Given the description of an element on the screen output the (x, y) to click on. 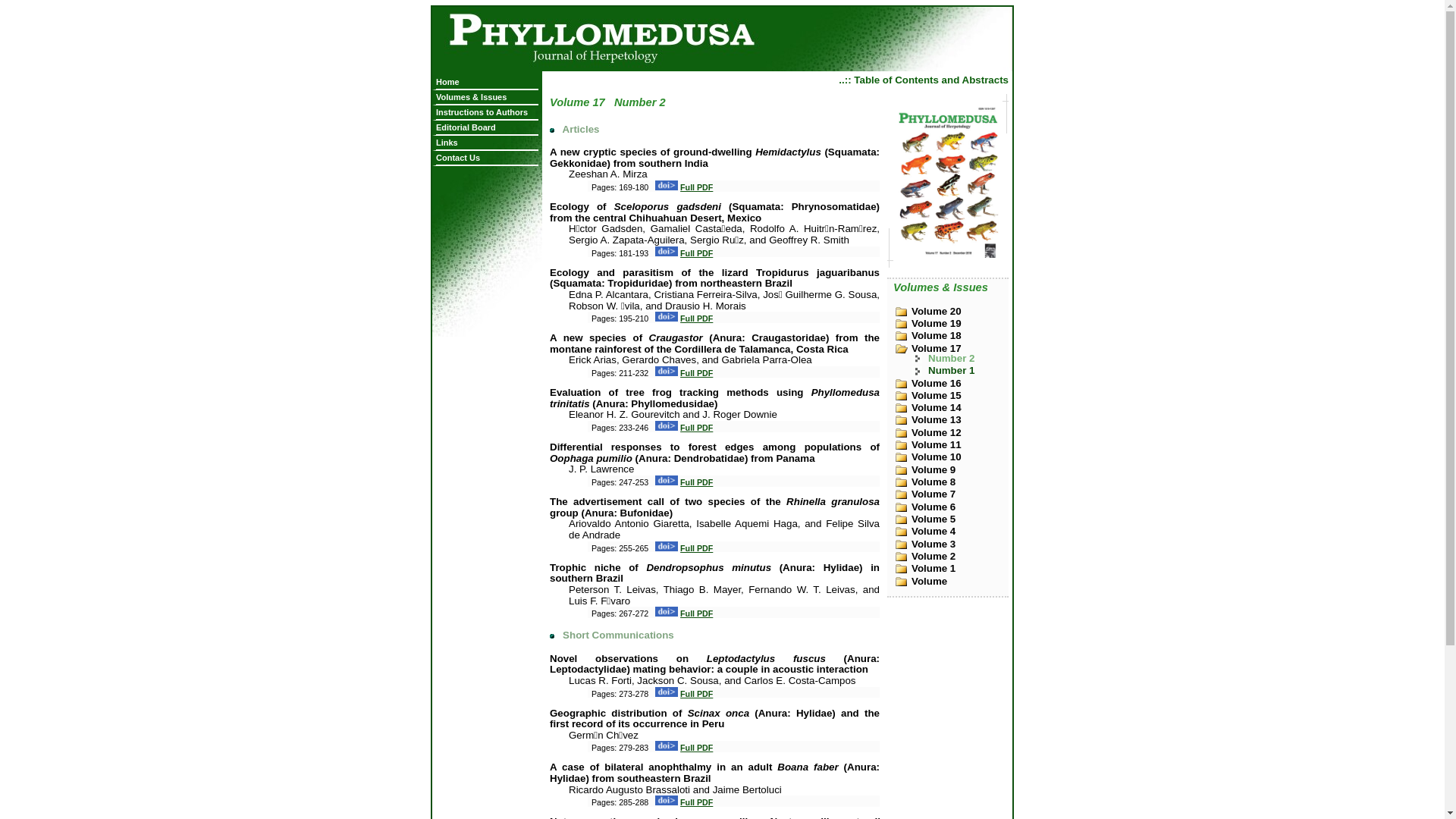
Full PDF Element type: text (696, 613)
Volumes & Issues Element type: text (487, 97)
Number 1 Element type: text (957, 370)
Editorial Board Element type: text (487, 127)
Full PDF Element type: text (696, 252)
Full PDF Element type: text (696, 186)
Links Element type: text (487, 142)
Full PDF Element type: text (696, 481)
Full PDF Element type: text (696, 747)
Instructions to Authors Element type: text (487, 112)
Full PDF Element type: text (696, 372)
Full PDF Element type: text (696, 547)
Home Element type: text (487, 82)
Full PDF Element type: text (696, 427)
Full PDF Element type: text (696, 801)
Full PDF Element type: text (696, 318)
Contact Us Element type: text (487, 157)
Number 2 Element type: text (957, 358)
Full PDF Element type: text (696, 693)
